Given the description of an element on the screen output the (x, y) to click on. 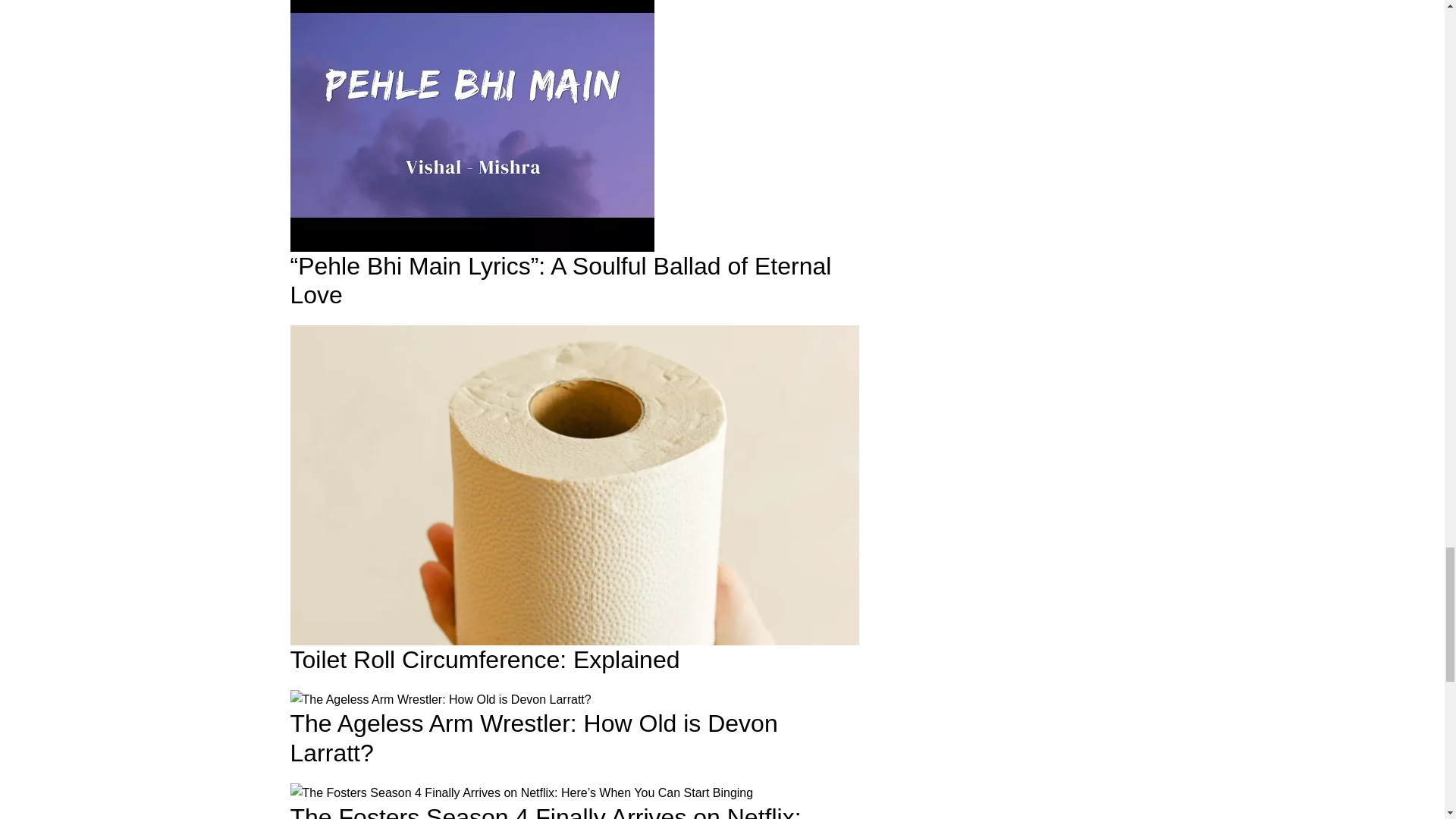
The Ageless Arm Wrestler: How Old is Devon Larratt? (440, 700)
